Given the description of an element on the screen output the (x, y) to click on. 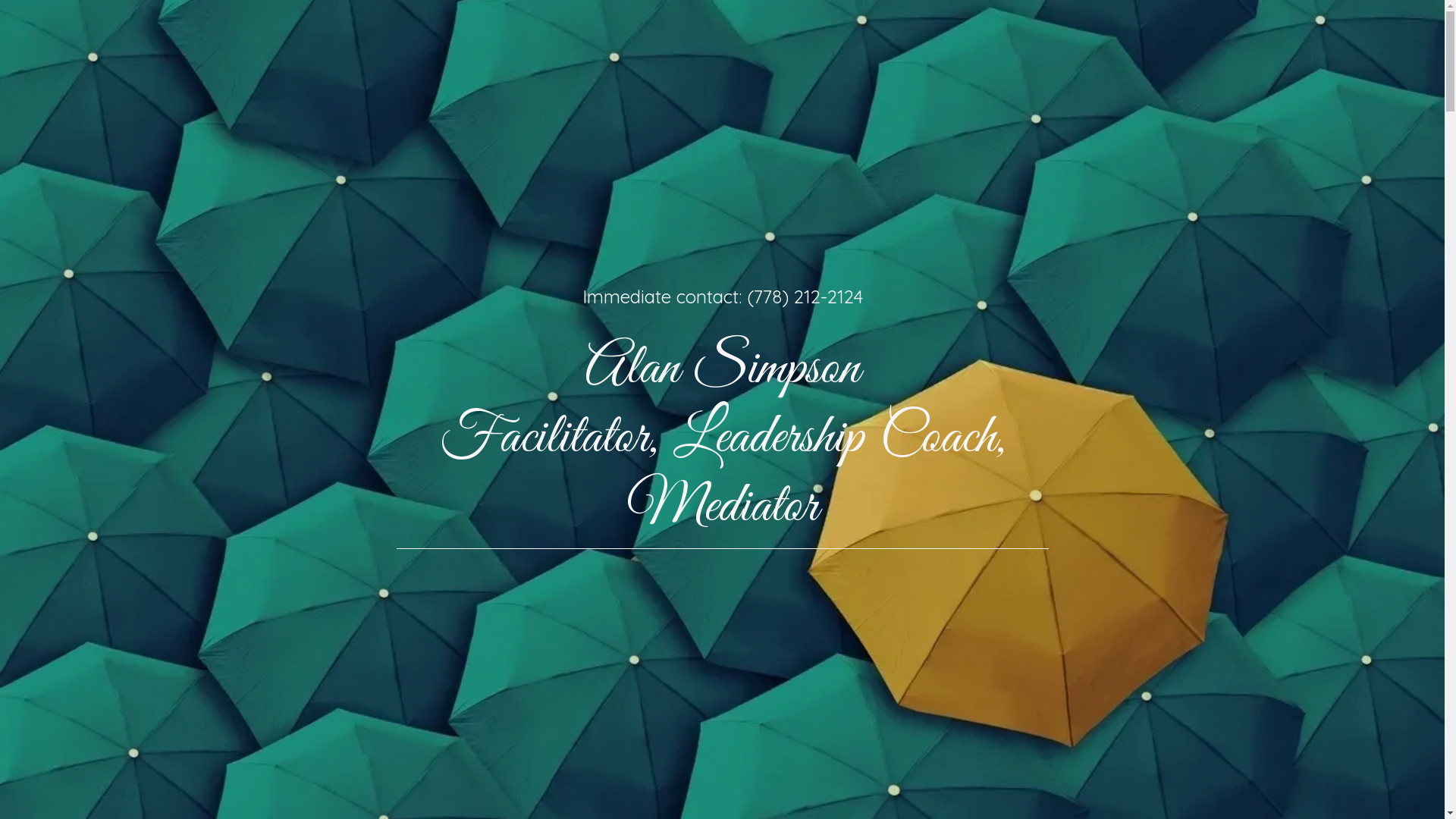
(778) 212-2124 Element type: text (804, 296)
